Given the description of an element on the screen output the (x, y) to click on. 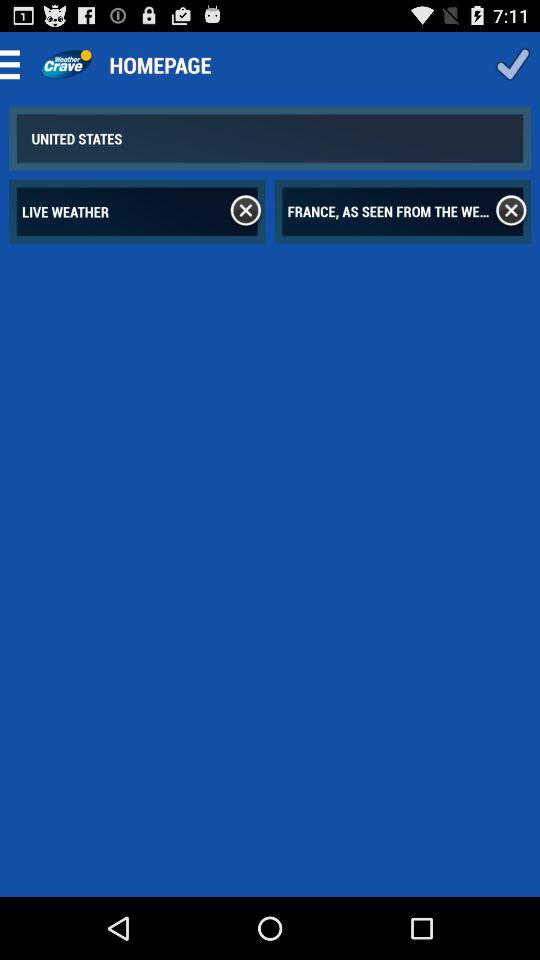
exclude button (245, 211)
